Given the description of an element on the screen output the (x, y) to click on. 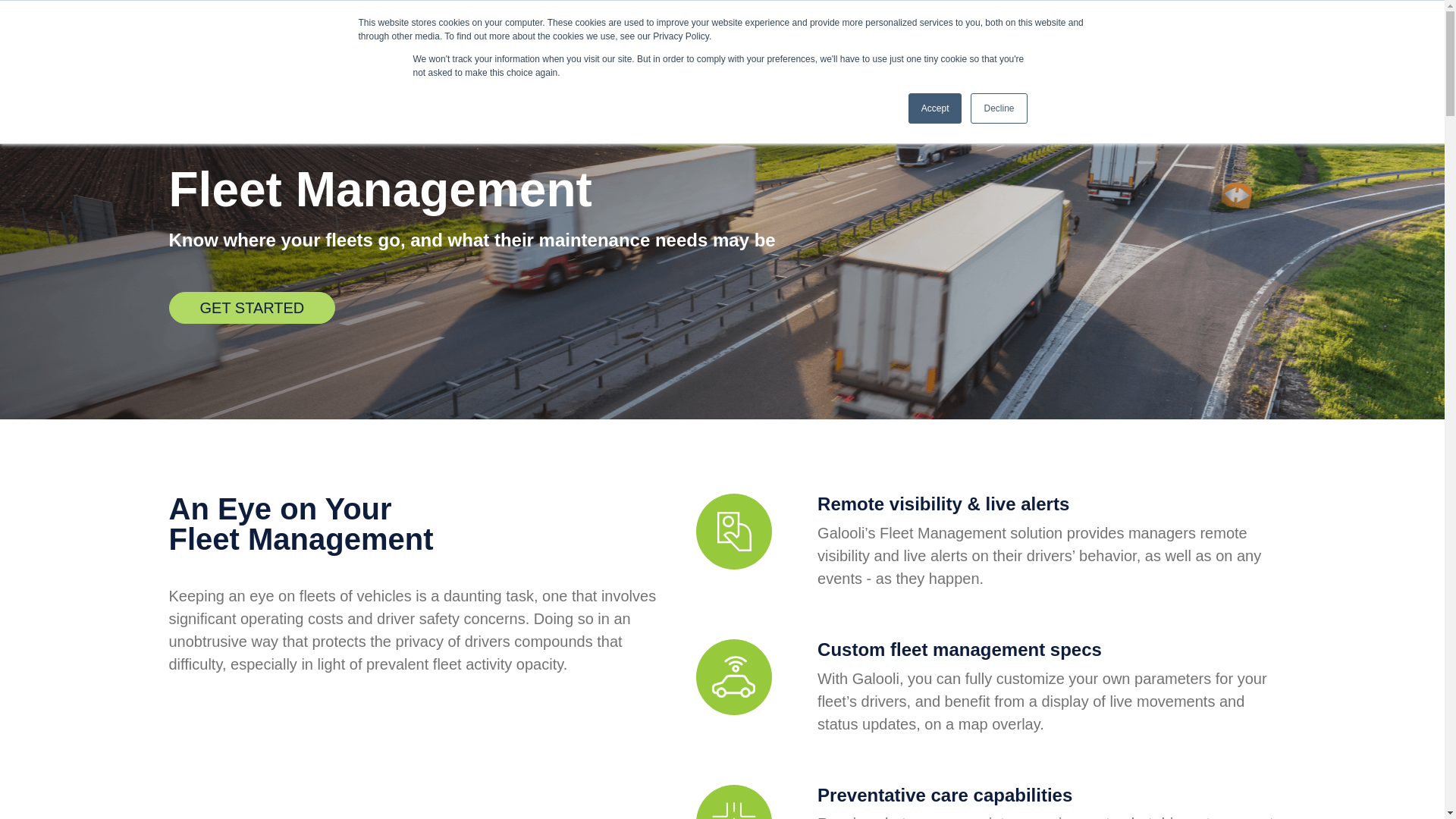
Industries (663, 36)
Decline (998, 108)
Solutions (508, 36)
Product (584, 36)
Resources (749, 36)
Accept (935, 108)
